Given the description of an element on the screen output the (x, y) to click on. 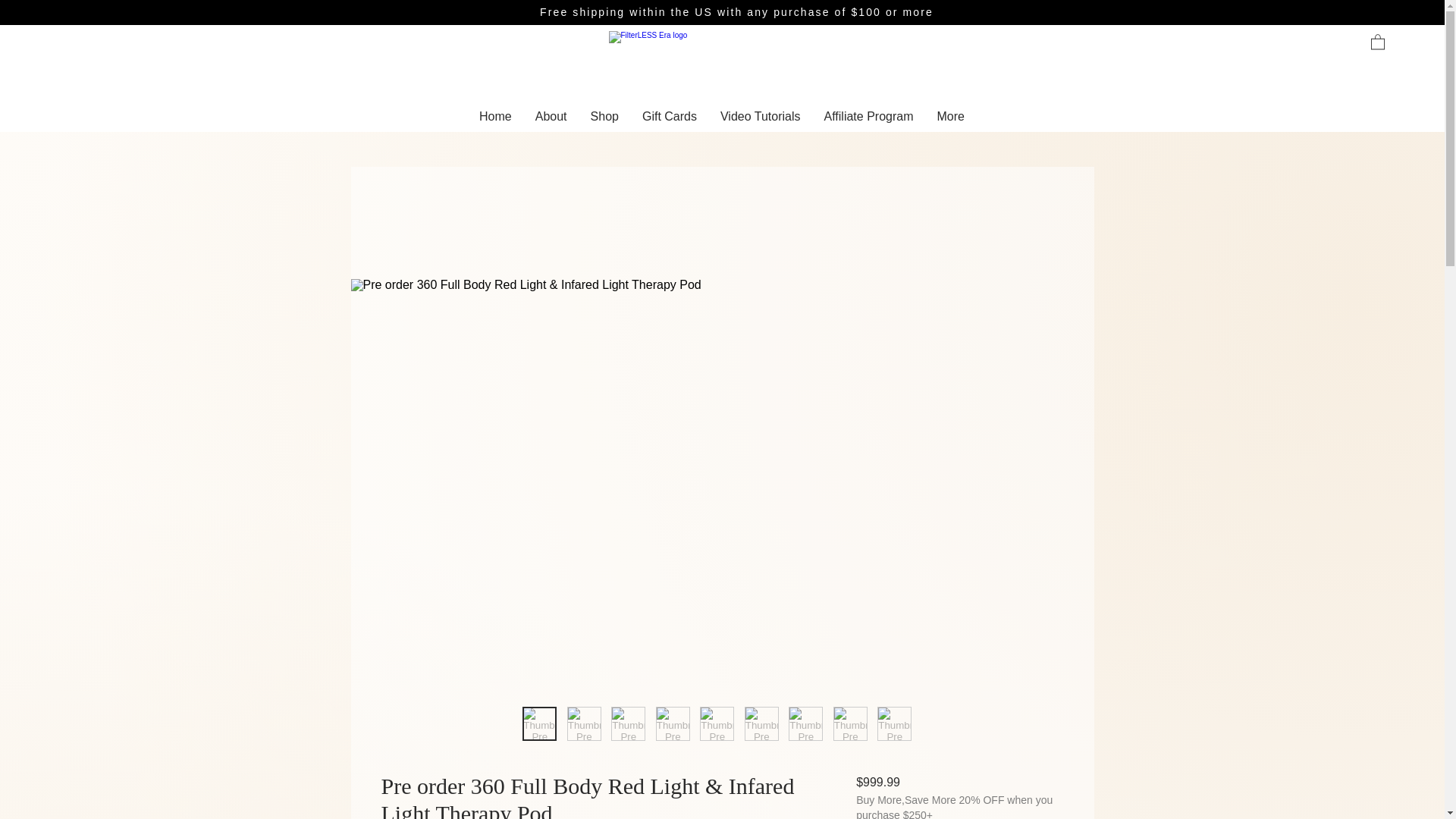
Home (494, 119)
Video Tutorials (759, 119)
About (550, 119)
Affiliate Program (867, 119)
Gift Cards (668, 119)
